Given the description of an element on the screen output the (x, y) to click on. 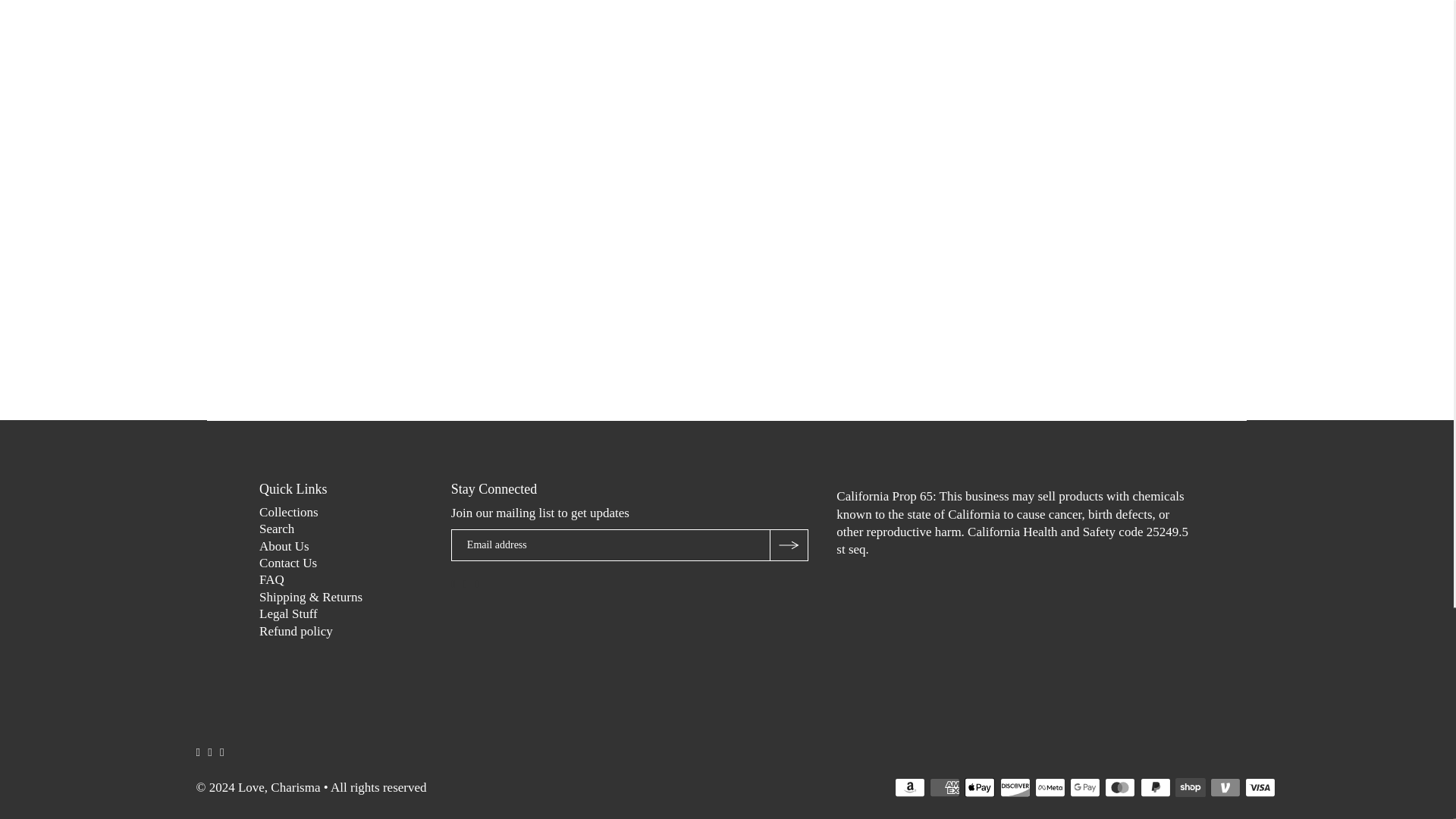
Apple Pay (978, 787)
Shop Pay (1189, 787)
Meta Pay (1050, 787)
Amazon (909, 787)
PayPal (1155, 787)
Google Pay (1085, 787)
American Express (944, 787)
Discover (1015, 787)
Mastercard (1120, 787)
Venmo (1224, 787)
